Given the description of an element on the screen output the (x, y) to click on. 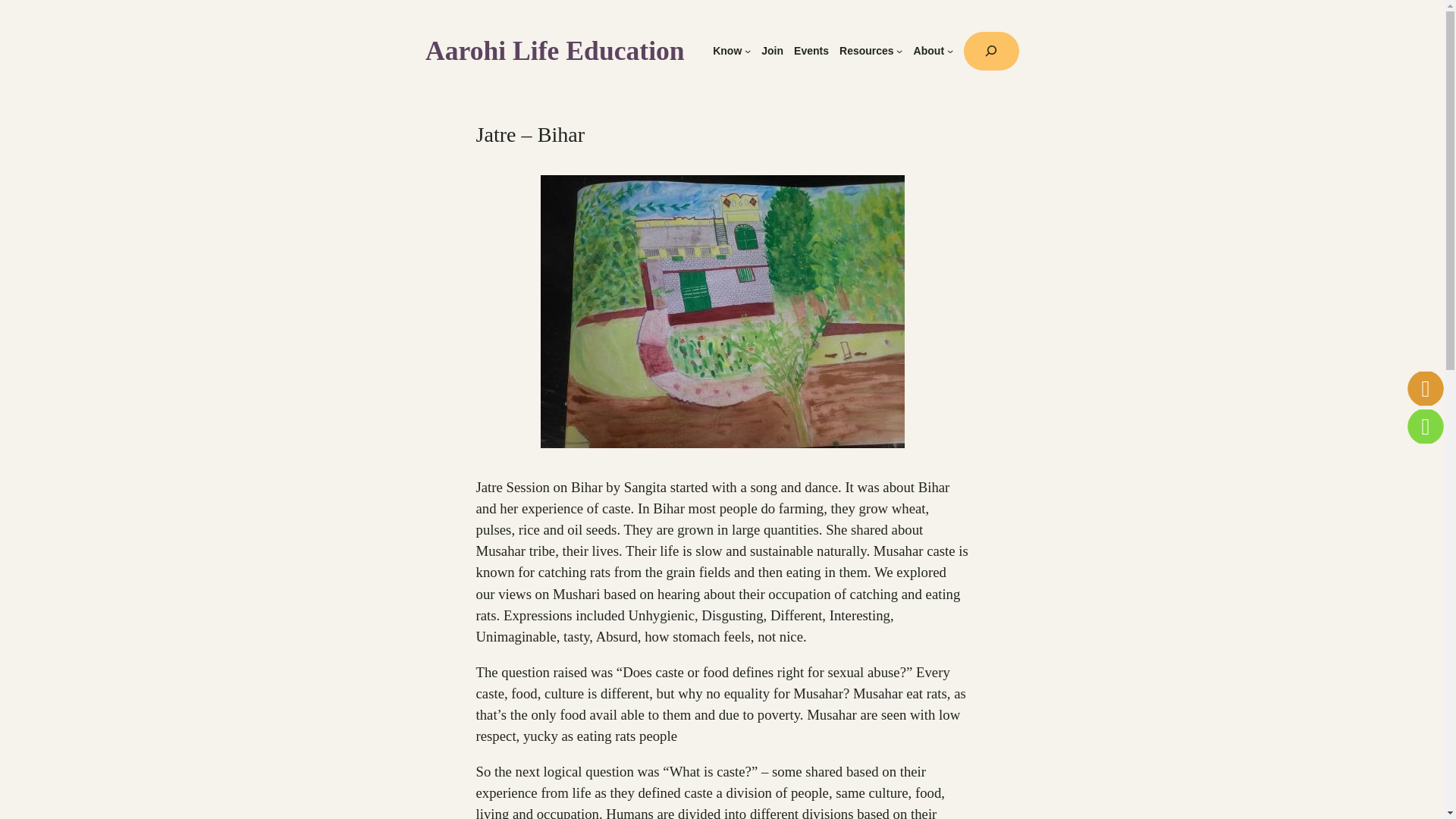
Aarohi Life Education (554, 51)
Know (727, 50)
About (928, 50)
Join (772, 50)
Resources (866, 50)
Events (810, 50)
